Given the description of an element on the screen output the (x, y) to click on. 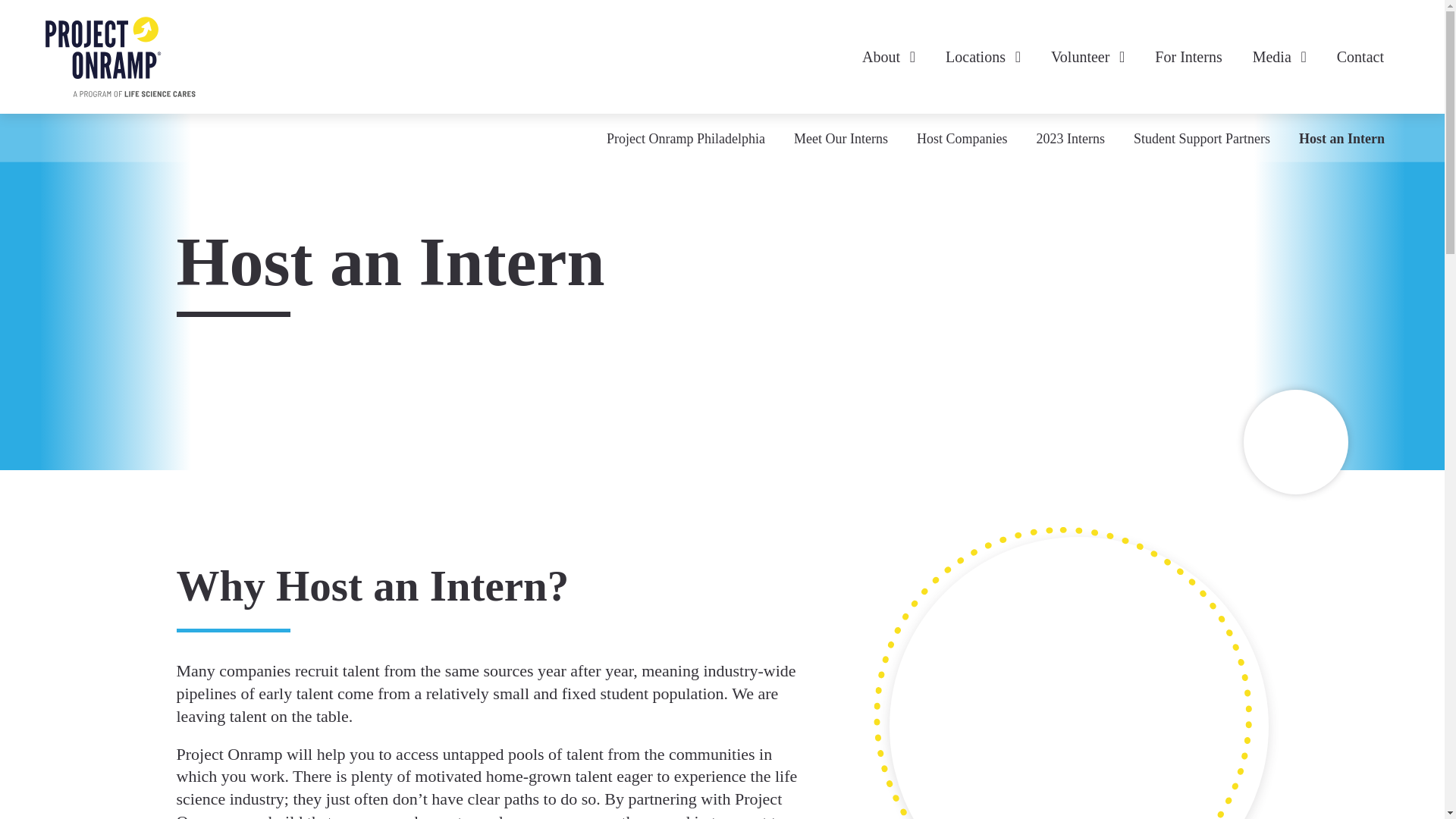
Student Support Partners (1201, 139)
Project Onramp Philadelphia (685, 139)
2023 Interns (1070, 139)
For Interns (1188, 56)
Host an Intern (1341, 139)
Meet Our Interns (840, 139)
Host Companies (962, 139)
Contact (1360, 56)
